Given the description of an element on the screen output the (x, y) to click on. 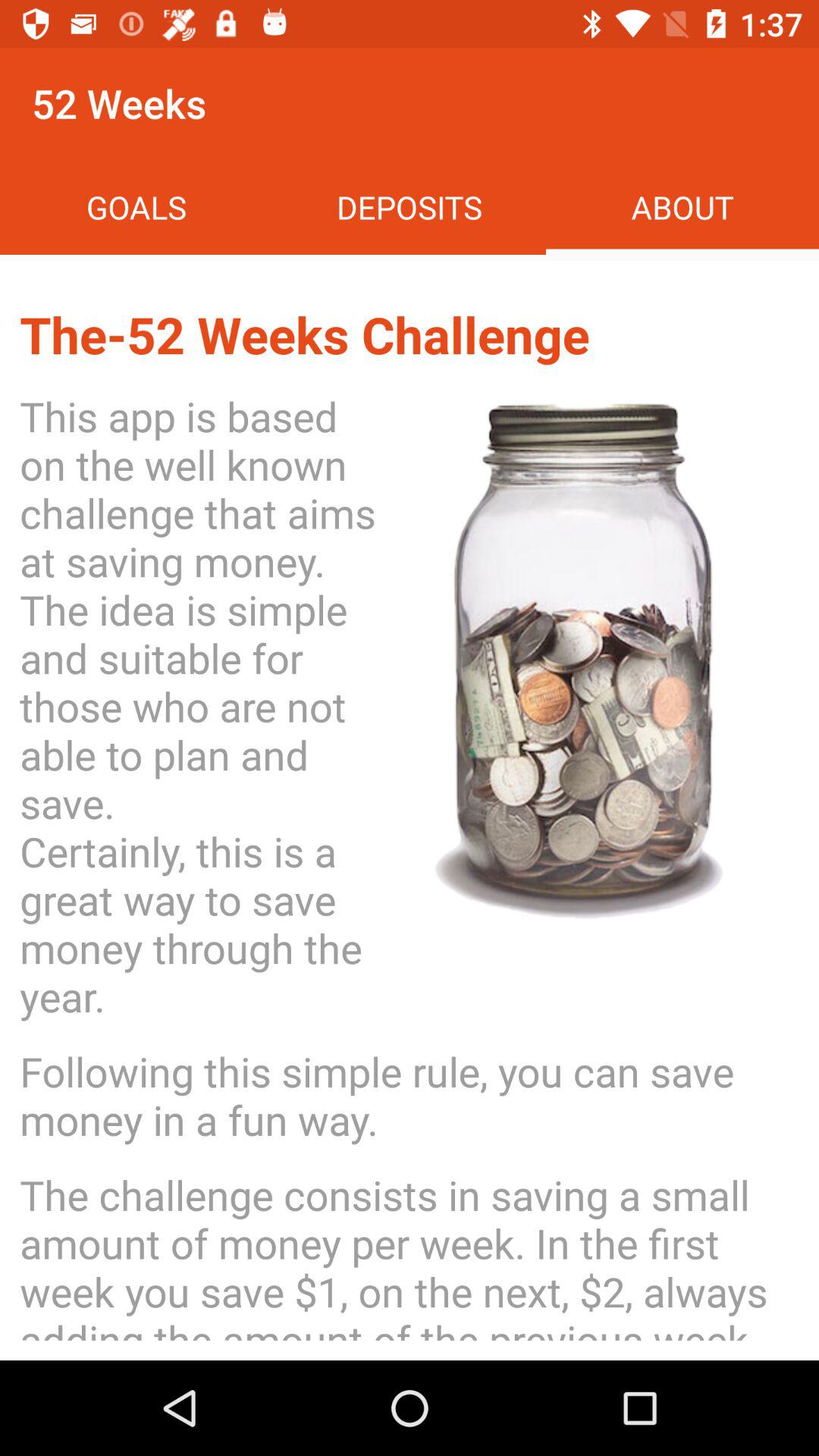
turn on item next to the about item (409, 206)
